Given the description of an element on the screen output the (x, y) to click on. 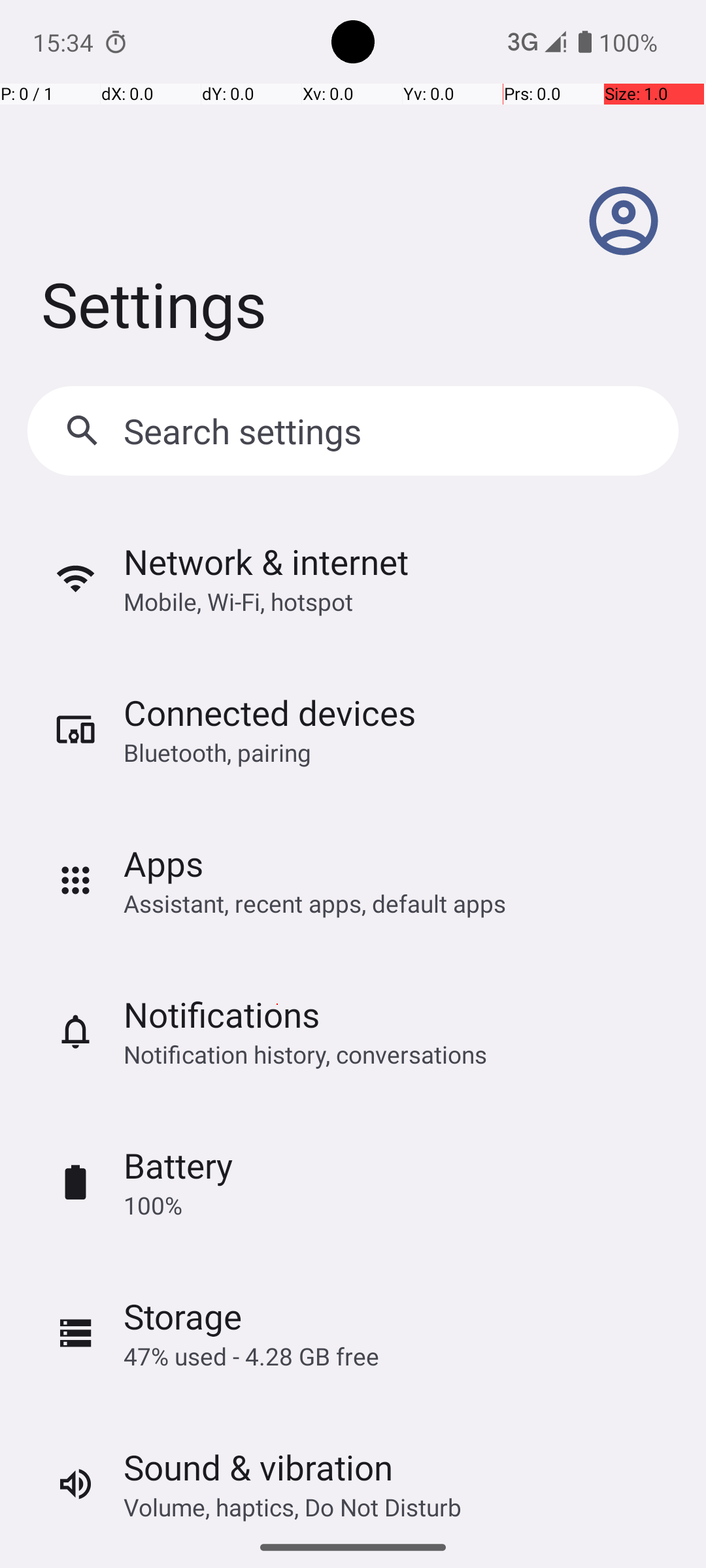
47% used - 4.28 GB free Element type: android.widget.TextView (251, 1355)
